Given the description of an element on the screen output the (x, y) to click on. 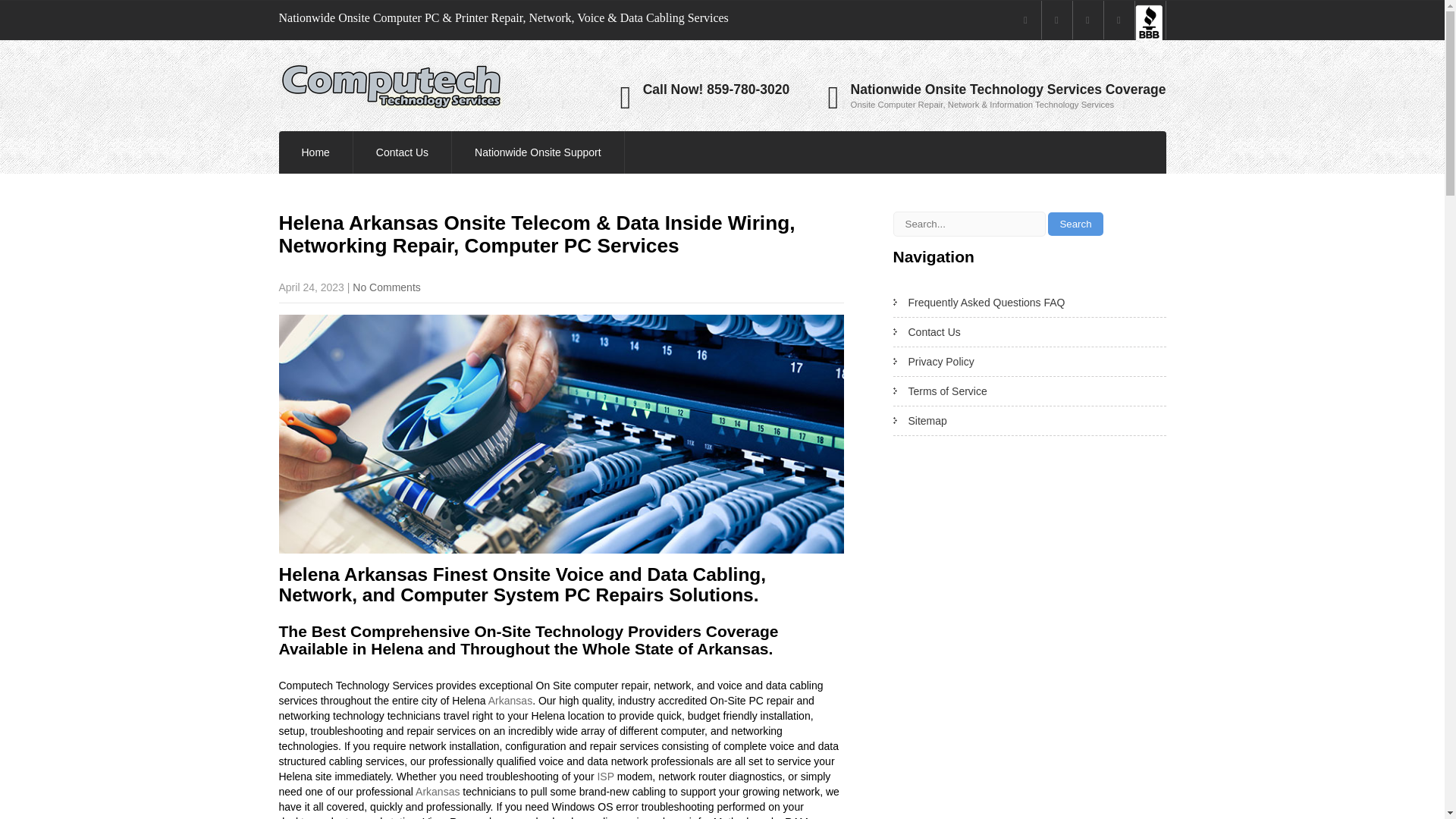
Arkansas (437, 791)
Arkansas (509, 700)
Home (315, 152)
Search (1075, 223)
No Comments (386, 287)
Search (1075, 223)
Contact Us (402, 152)
ISP (604, 776)
Nationwide Onsite Support (537, 152)
